Given the description of an element on the screen output the (x, y) to click on. 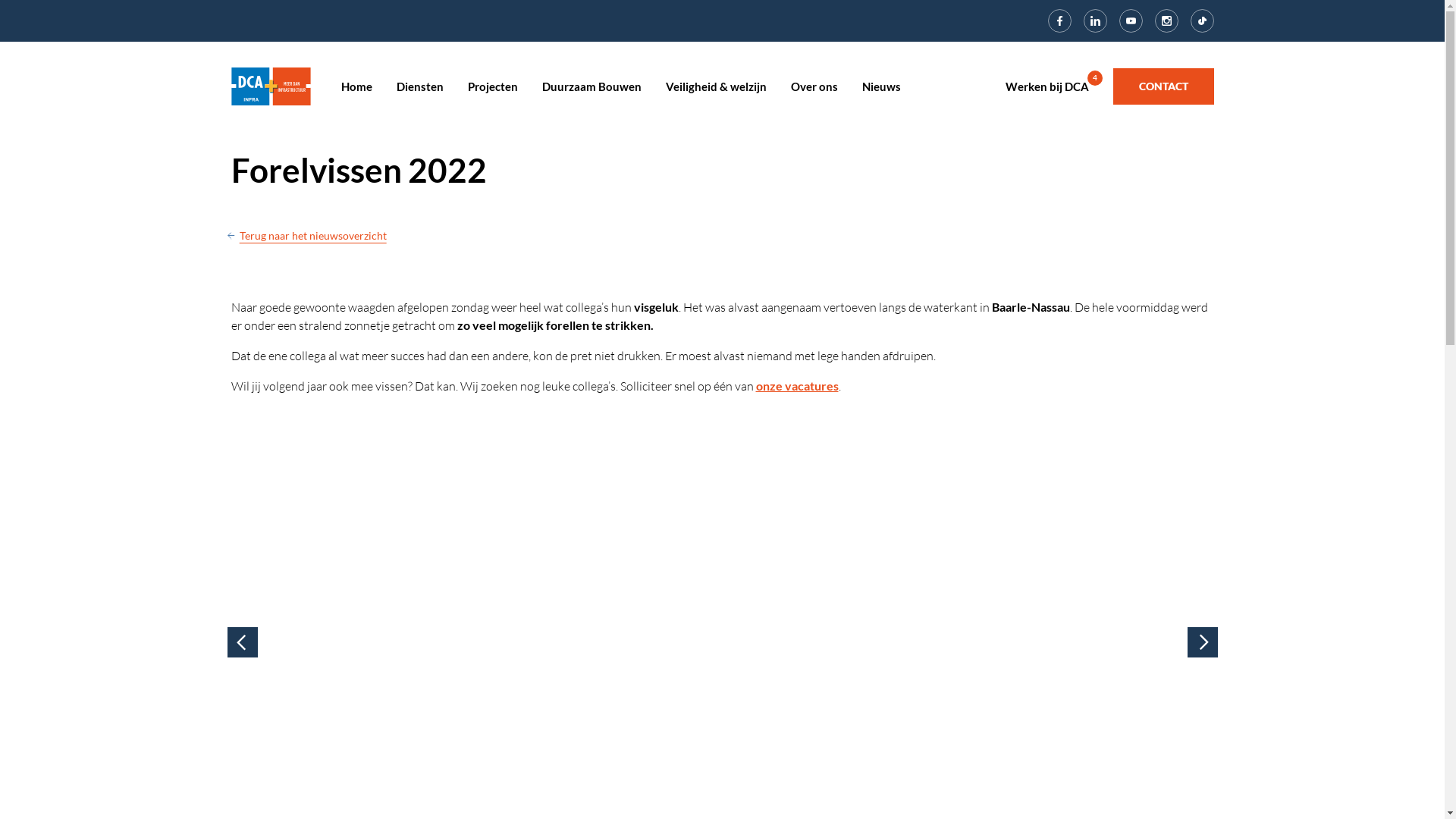
Previous Element type: text (242, 642)
onze vacatures Element type: text (796, 385)
Projecten Element type: text (492, 86)
Werken bij DCA
4 Element type: text (1050, 86)
Home Element type: hover (270, 84)
Home Element type: text (356, 86)
Over ons Element type: text (813, 86)
Duurzaam Bouwen Element type: text (590, 86)
Nieuws Element type: text (880, 86)
CONTACT Element type: text (1163, 86)
Diensten Element type: text (418, 86)
Next Element type: text (1202, 642)
Terug naar het nieuwsoverzicht Element type: text (471, 235)
Veiligheid & welzijn Element type: text (715, 86)
